Given the description of an element on the screen output the (x, y) to click on. 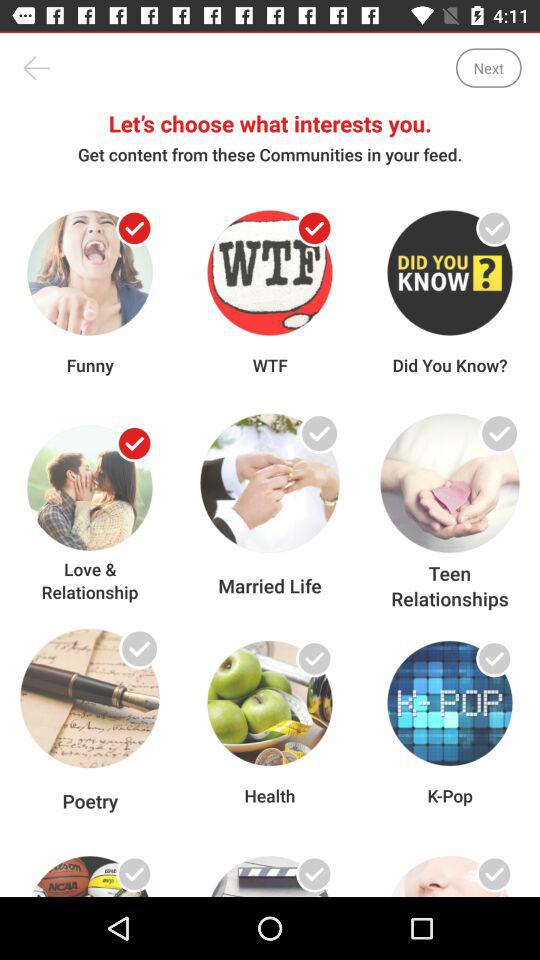
go do sealet (134, 443)
